Given the description of an element on the screen output the (x, y) to click on. 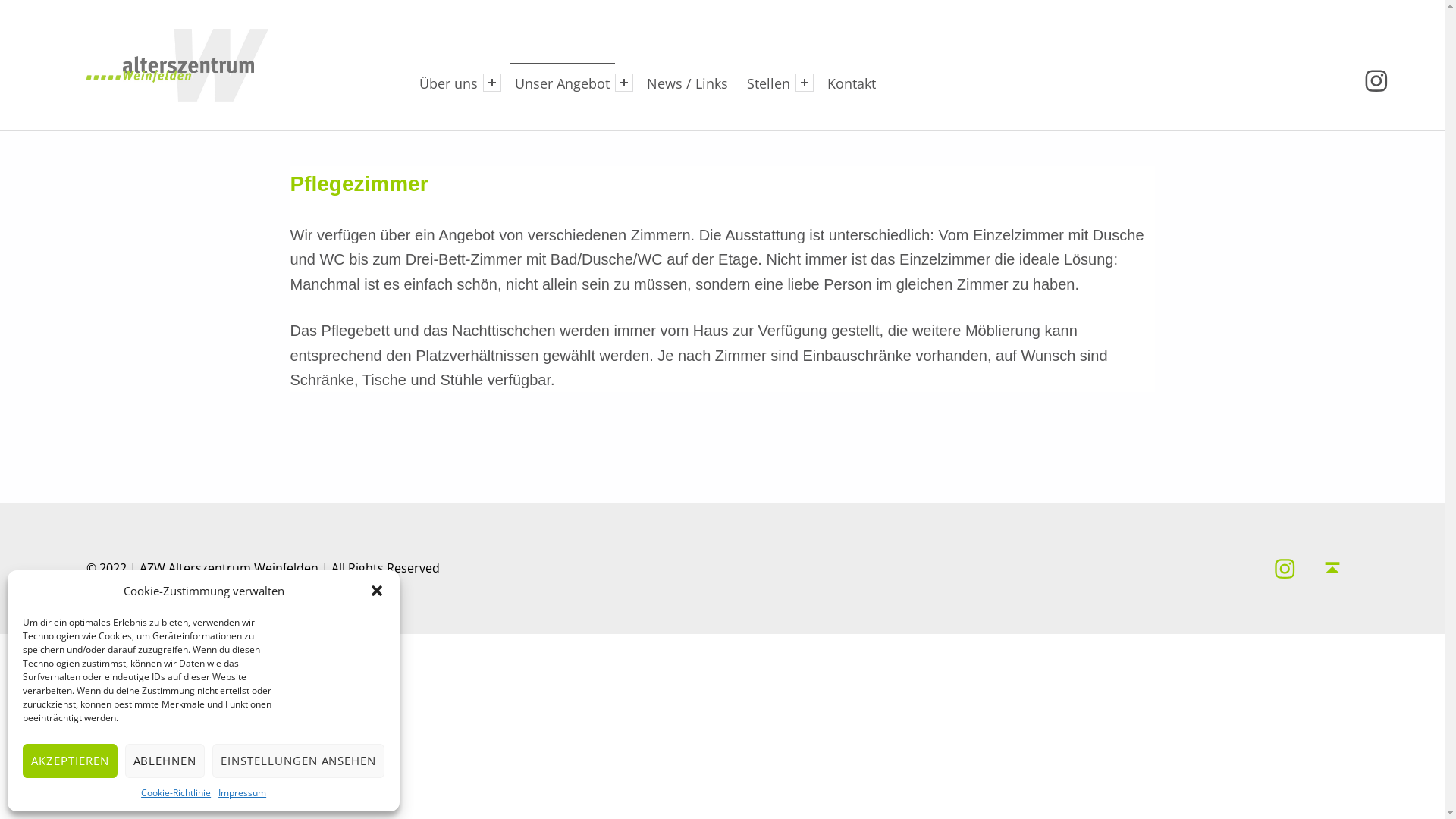
Impressum Element type: text (242, 792)
Follow us Element type: text (1375, 79)
AKZEPTIEREN Element type: text (69, 760)
Kontakt Element type: text (851, 82)
EINSTELLUNGEN ANSEHEN Element type: text (298, 760)
Cookie-Richtlinie Element type: text (175, 792)
Unser Angebot Element type: text (562, 82)
News / Links Element type: text (687, 82)
Follow us Element type: text (1285, 567)
Alterszentrum Weinfelden Element type: text (281, 37)
Skip back to main navigation Element type: text (289, 391)
ABLEHNEN Element type: text (165, 760)
Stellen Element type: text (768, 82)
